Given the description of an element on the screen output the (x, y) to click on. 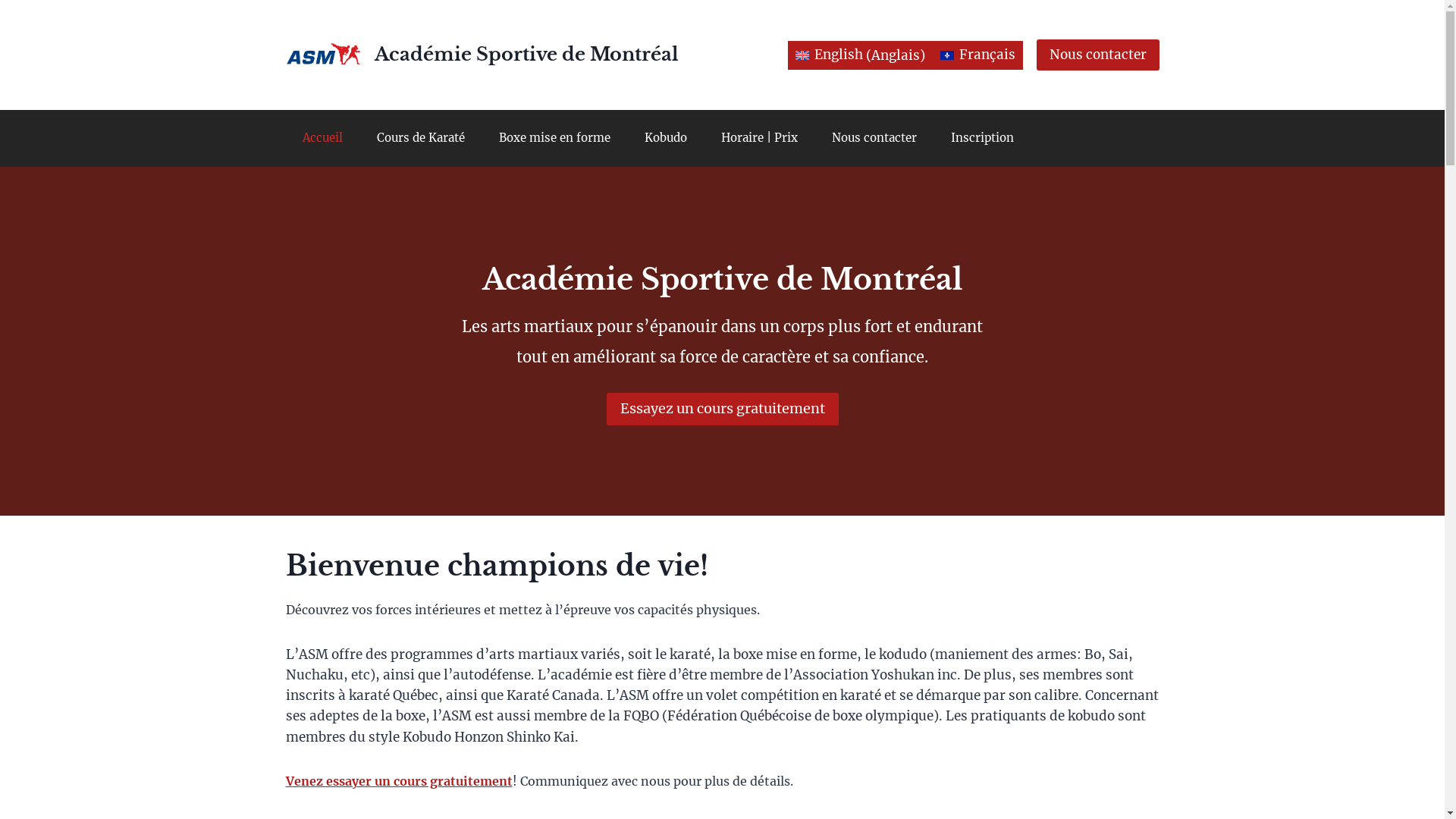
Horaire | Prix Element type: text (758, 137)
Kobudo Element type: text (665, 137)
Accueil Element type: text (322, 137)
English (Anglais) Element type: text (859, 55)
Boxe mise en forme Element type: text (554, 137)
Nous contacter Element type: text (873, 137)
Inscription Element type: text (982, 137)
Nous contacter Element type: text (1096, 54)
Venez essayer un cours gratuitement Element type: text (398, 780)
Essayez un cours gratuitement Element type: text (722, 408)
